Given the description of an element on the screen output the (x, y) to click on. 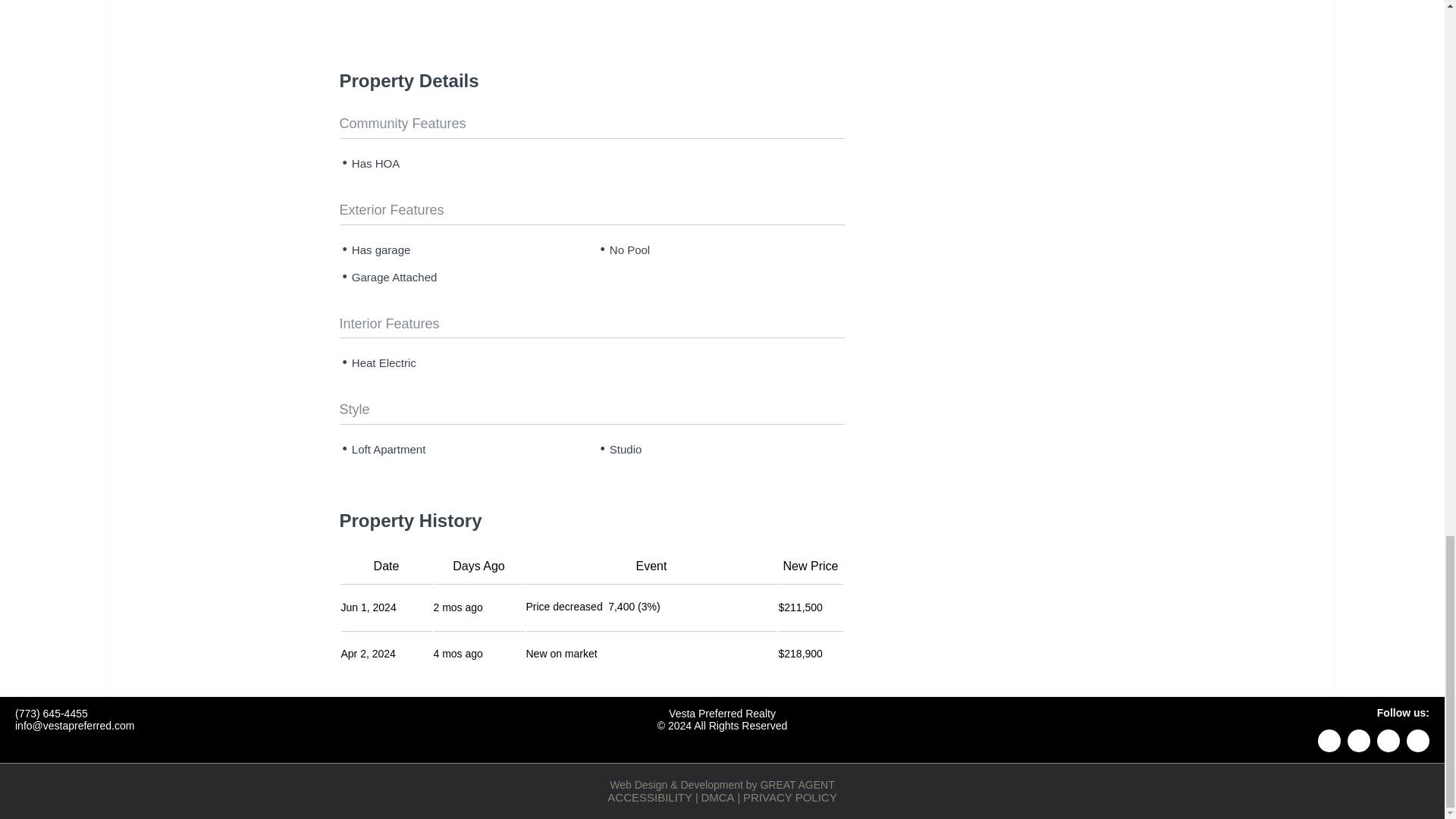
PRIVACY POLICY (789, 797)
Facebook (1359, 740)
Linkedin (1328, 740)
ACCESSIBILITY (650, 797)
GREAT AGENT (797, 784)
instagram (1388, 740)
DMCA (716, 797)
youtube (1417, 740)
